Given the description of an element on the screen output the (x, y) to click on. 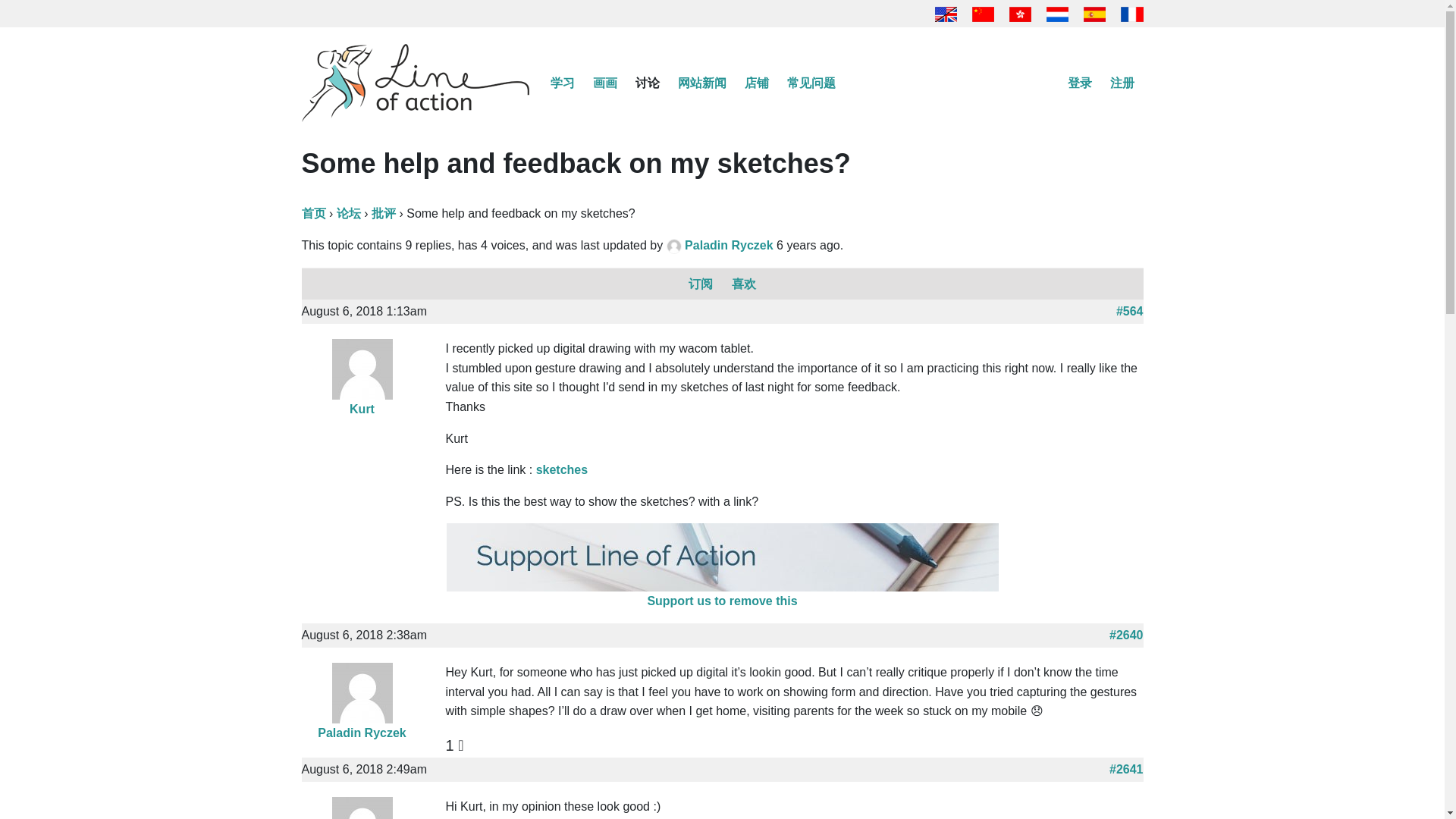
View Paladin Ryczek's profile (675, 245)
View Paladin Ryczek's profile (730, 245)
1 Reactions of Helpful (454, 745)
View Kurt's profile (362, 367)
Nederlands (1057, 12)
View Paladin Ryczek's profile (362, 691)
English (946, 12)
View Kurt's profile (361, 408)
View Paladin Ryczek's profile (361, 732)
